Given the description of an element on the screen output the (x, y) to click on. 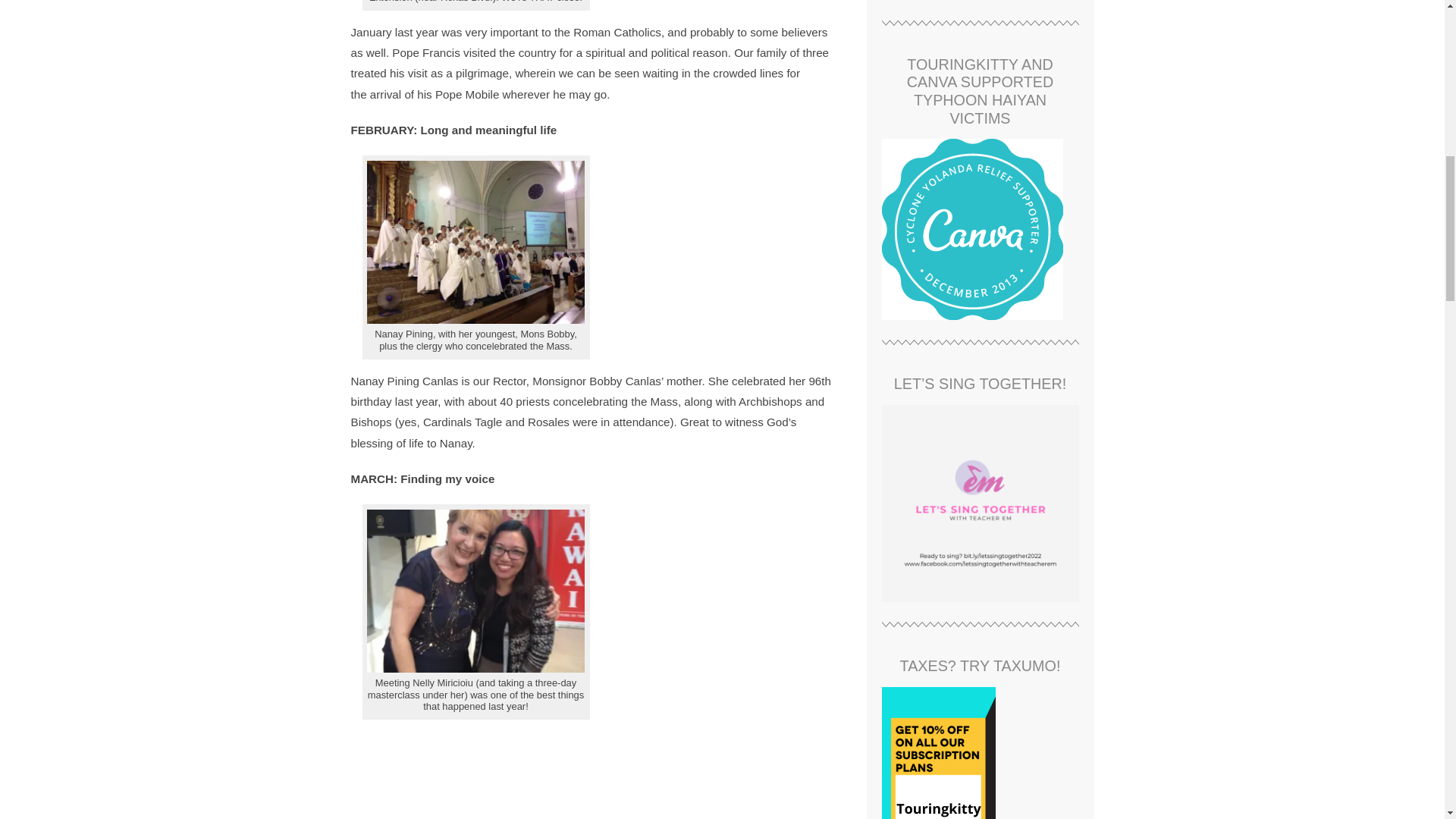
Let's sing together! (979, 502)
